Given the description of an element on the screen output the (x, y) to click on. 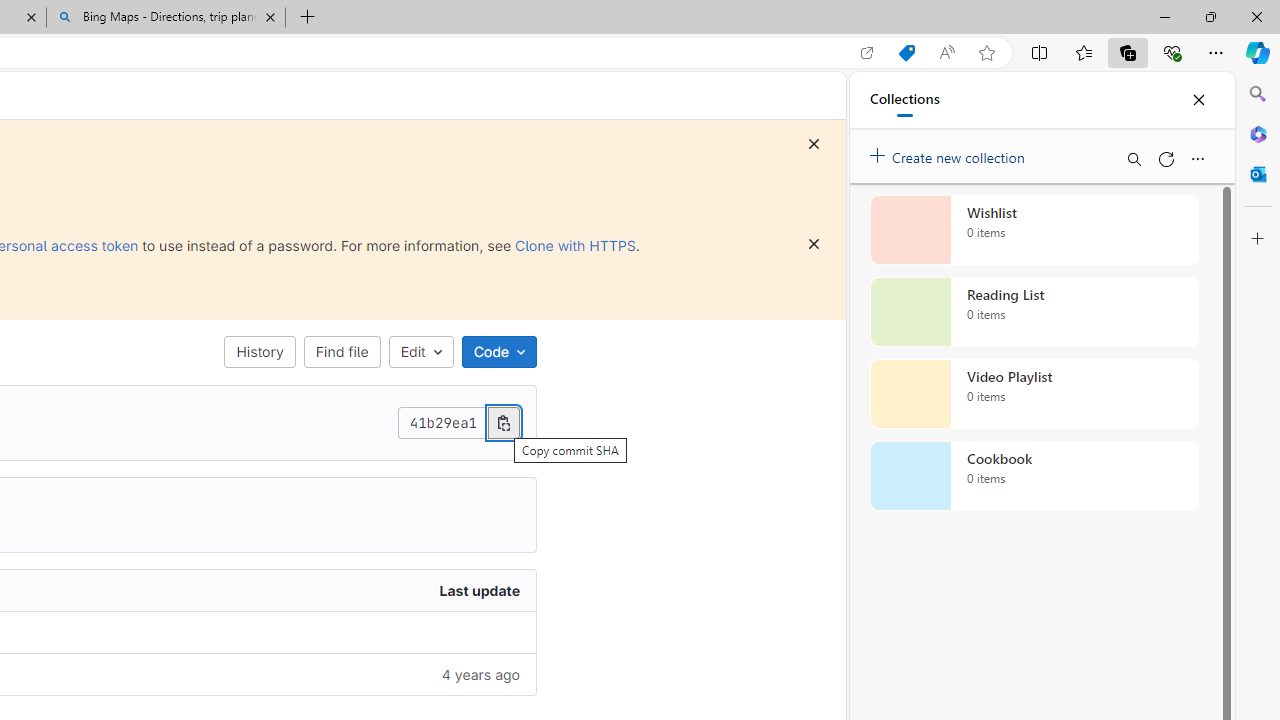
More options menu (1197, 158)
Reading List collection, 0 items (1034, 312)
Class: s16 gl-icon gl-button-icon  (813, 243)
